Given the description of an element on the screen output the (x, y) to click on. 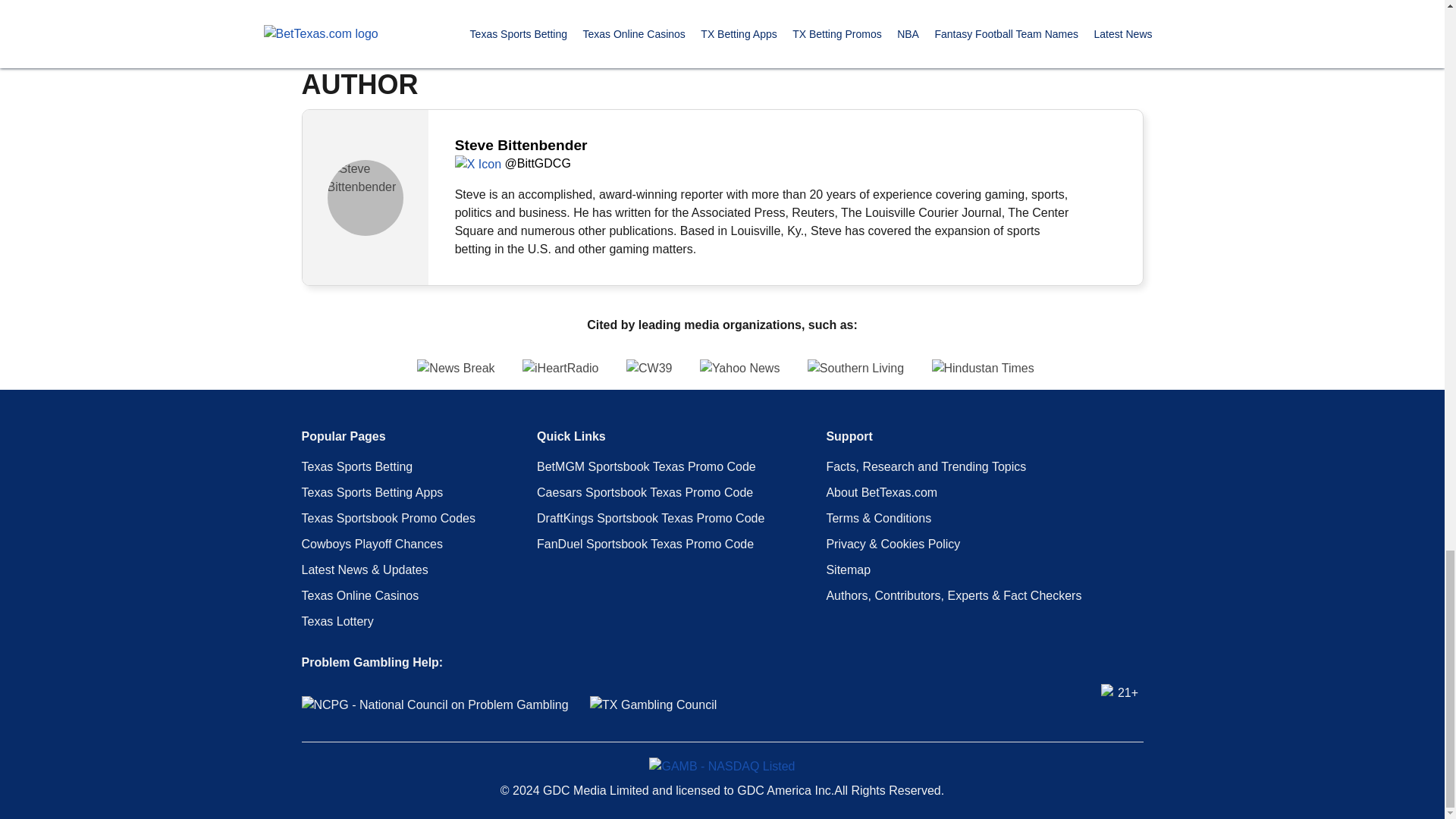
GAMB - NASDAQ Listed (721, 766)
Hindustan Times (1125, 368)
NCPG - National Council on Problem Gambling (435, 705)
Yahoo News (740, 368)
TX Gambling Council (652, 705)
Southern Living (856, 368)
iHeartRadio (560, 368)
News Break (313, 368)
Steve Bittenbender (365, 197)
CW39 (648, 368)
